Given the description of an element on the screen output the (x, y) to click on. 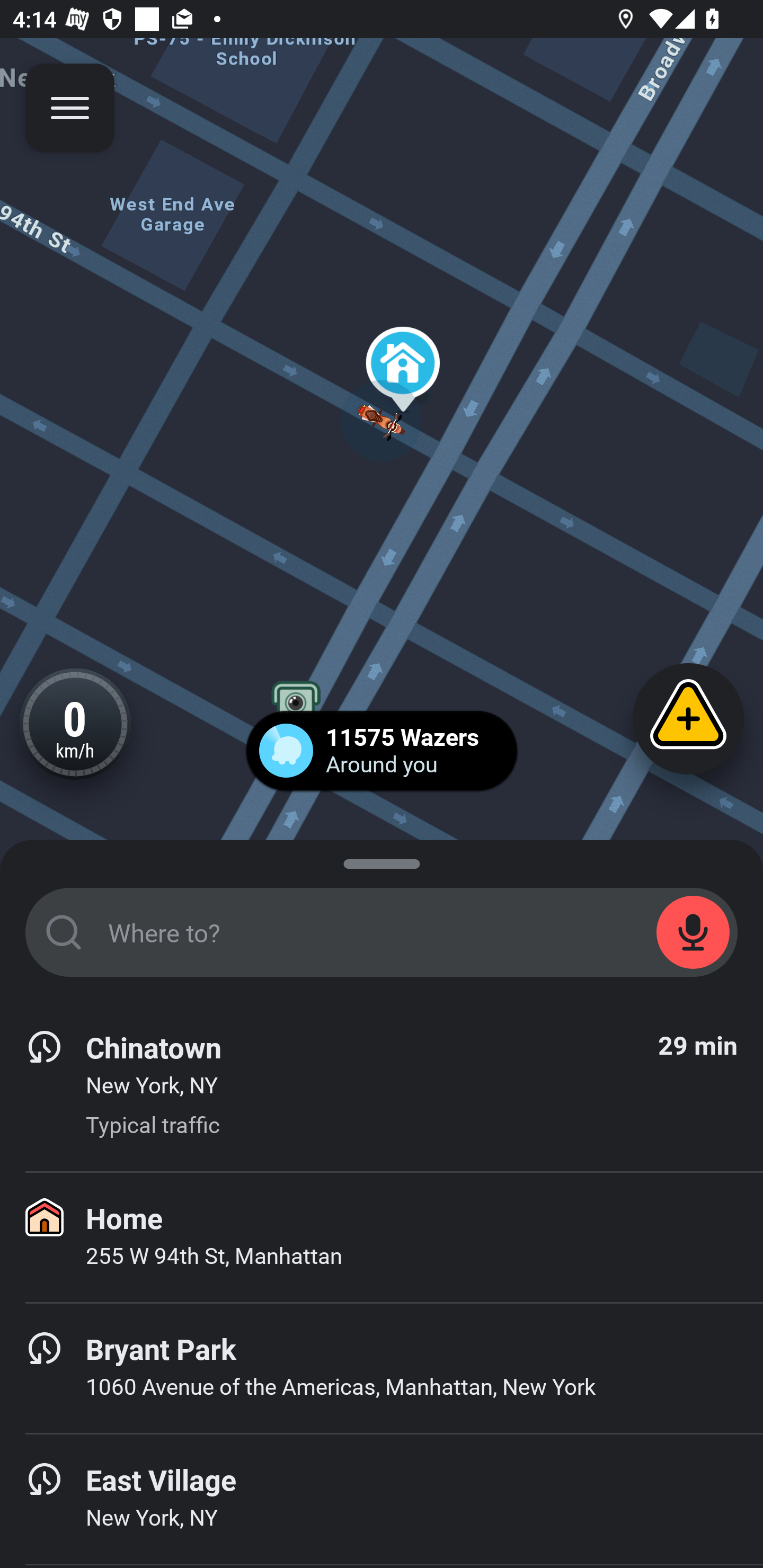
SUGGESTIONS_SHEET_DRAG_HANDLE (381, 860)
START_STATE_SEARCH_FIELD Where to? (381, 931)
Chinatown 29 min New York, NY Typical traffic (381, 1086)
Home 255 W 94th St, Manhattan (381, 1236)
East Village New York, NY (381, 1498)
